Given the description of an element on the screen output the (x, y) to click on. 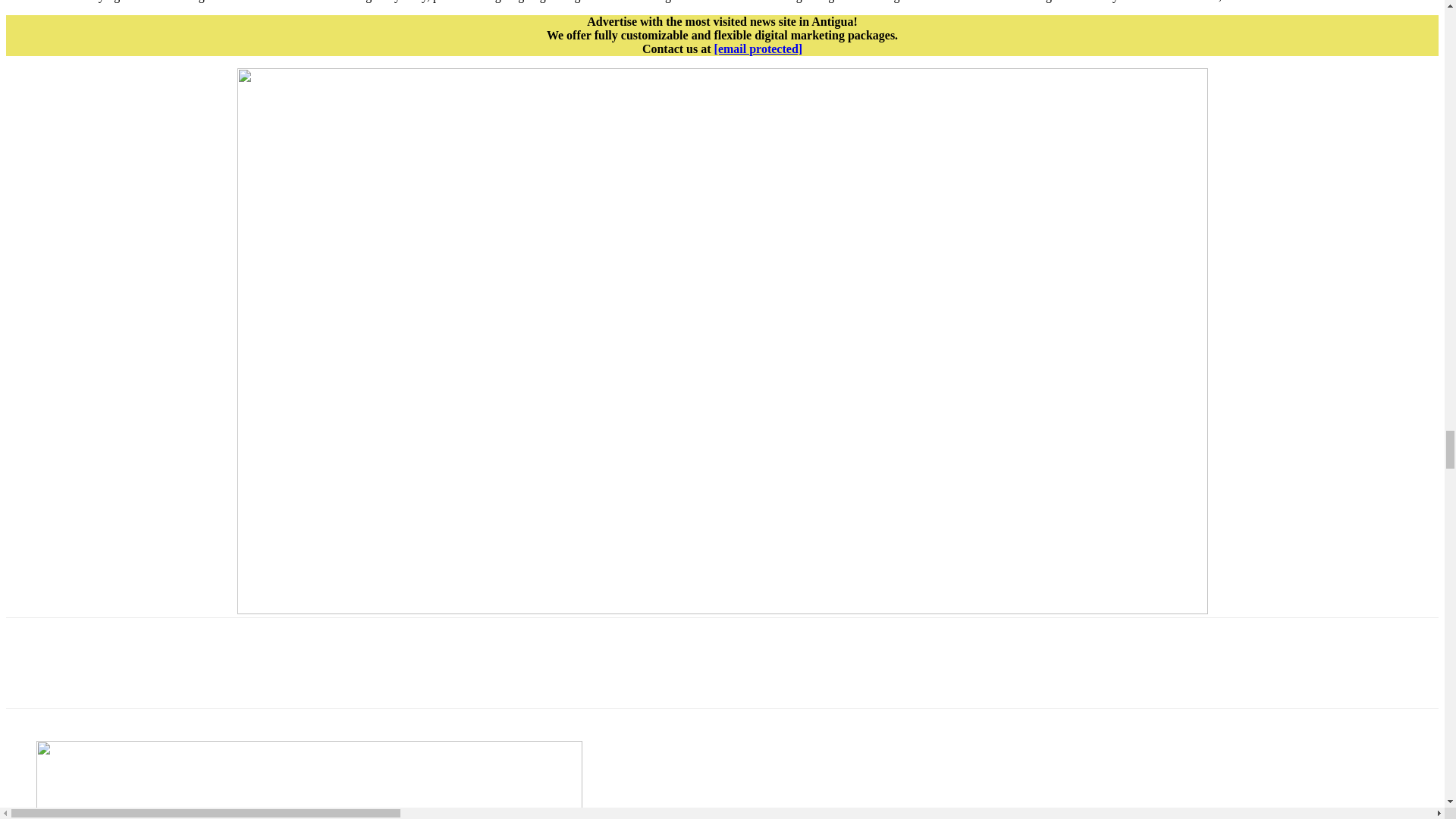
bottomFacebookLike (118, 641)
